Given the description of an element on the screen output the (x, y) to click on. 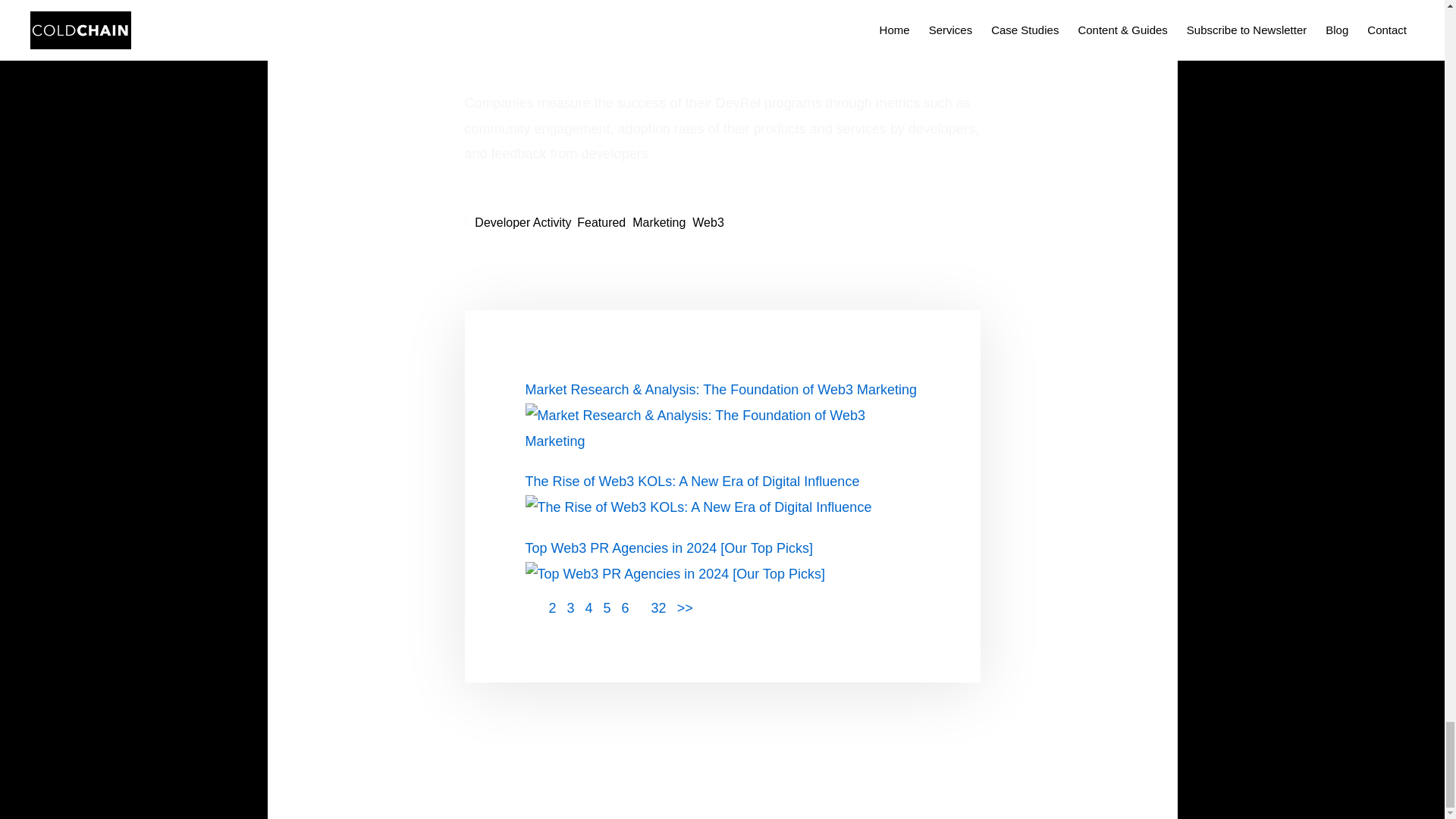
Marketing (658, 222)
2 (685, 607)
32 (658, 607)
Web3 (708, 222)
Featured (601, 222)
The Rise of Web3 KOLs: A New Era of Digital Influence (697, 507)
Developer Activity (522, 222)
